Given the description of an element on the screen output the (x, y) to click on. 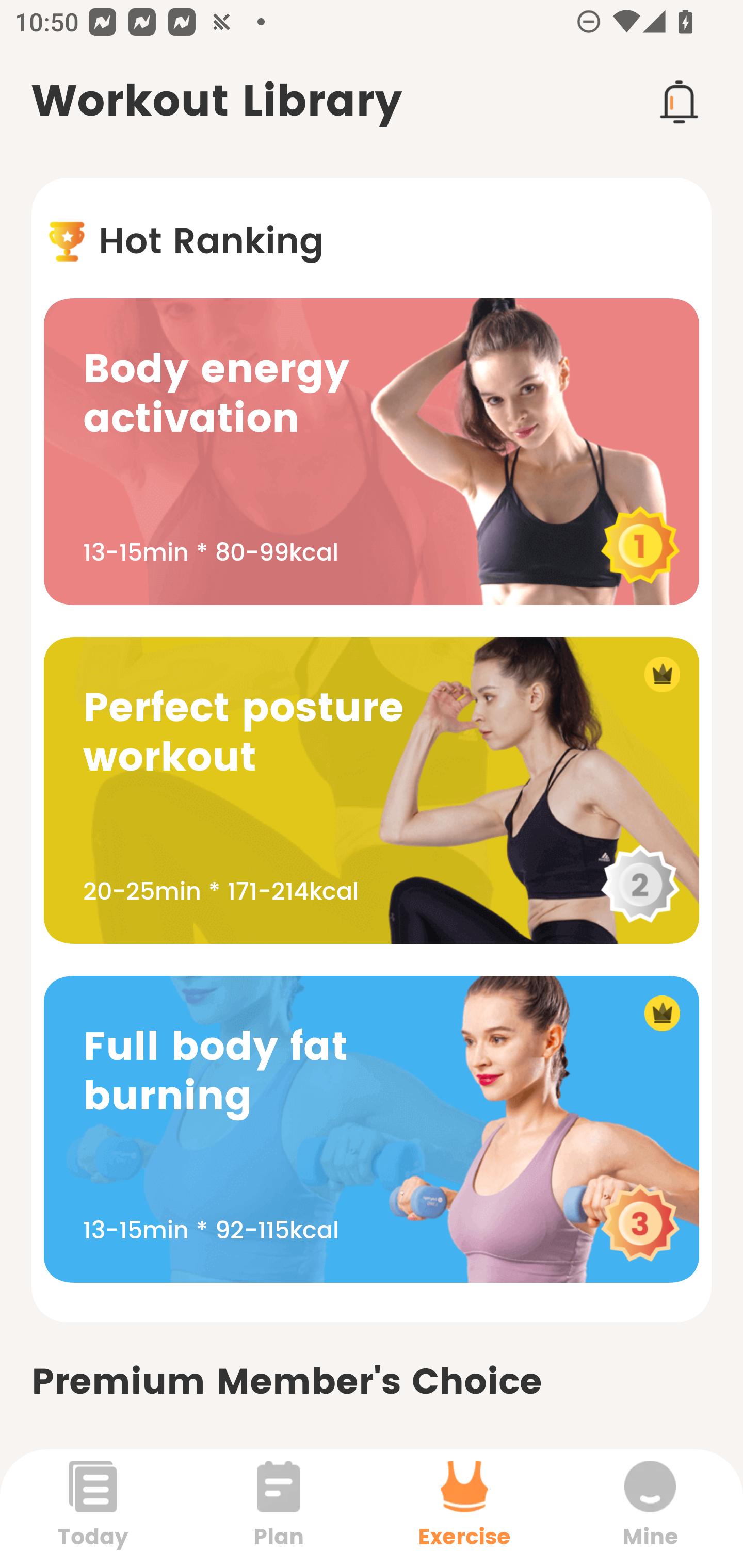
Body energy activation 13-15min * 80-99kcal (371, 451)
Perfect posture workout 20-25min * 171-214kcal (371, 789)
Full body fat burning 13-15min * 92-115kcal (371, 1128)
Today (92, 1508)
Plan (278, 1508)
Mine (650, 1508)
